Given the description of an element on the screen output the (x, y) to click on. 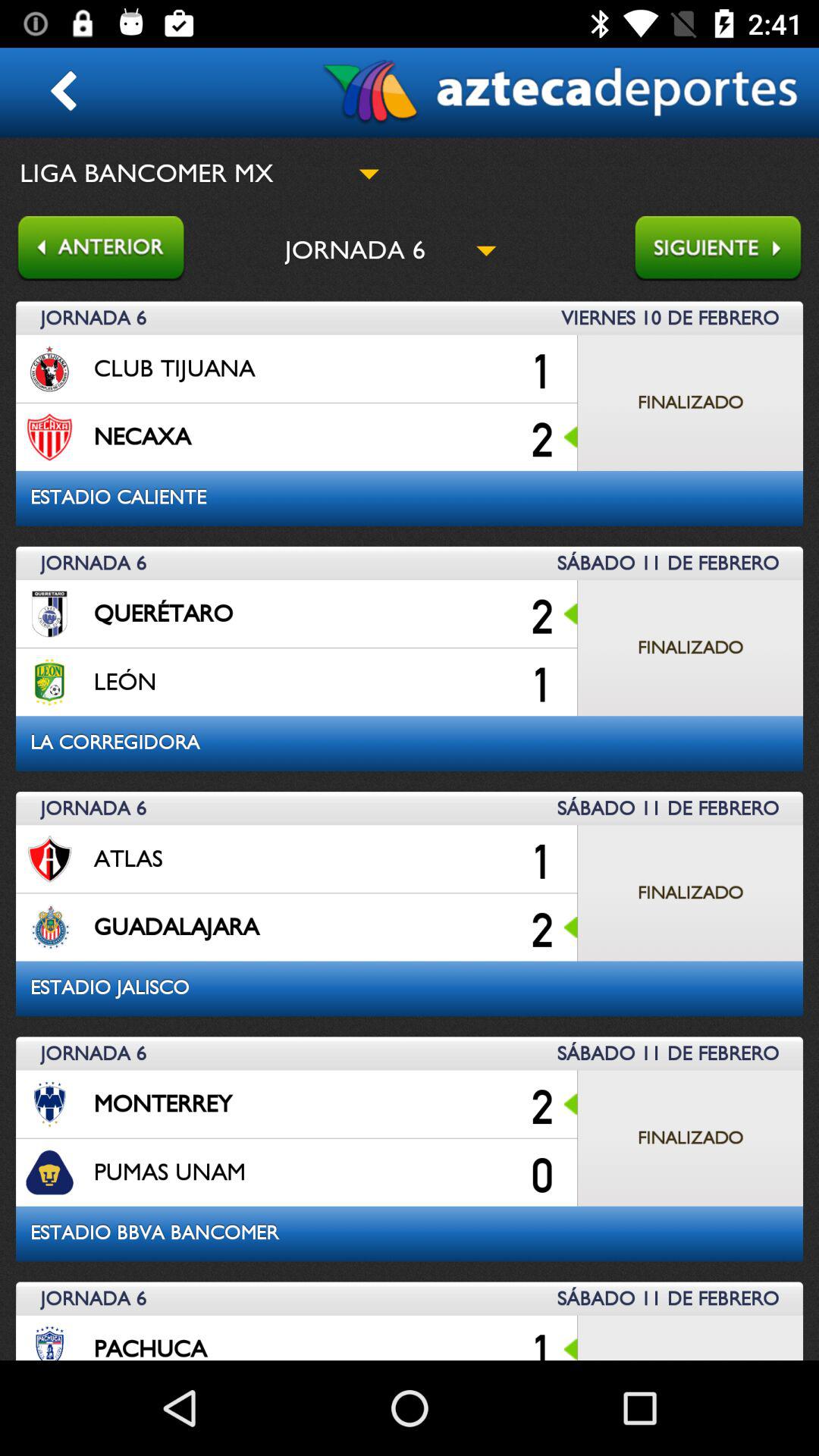
go to next (726, 249)
